Given the description of an element on the screen output the (x, y) to click on. 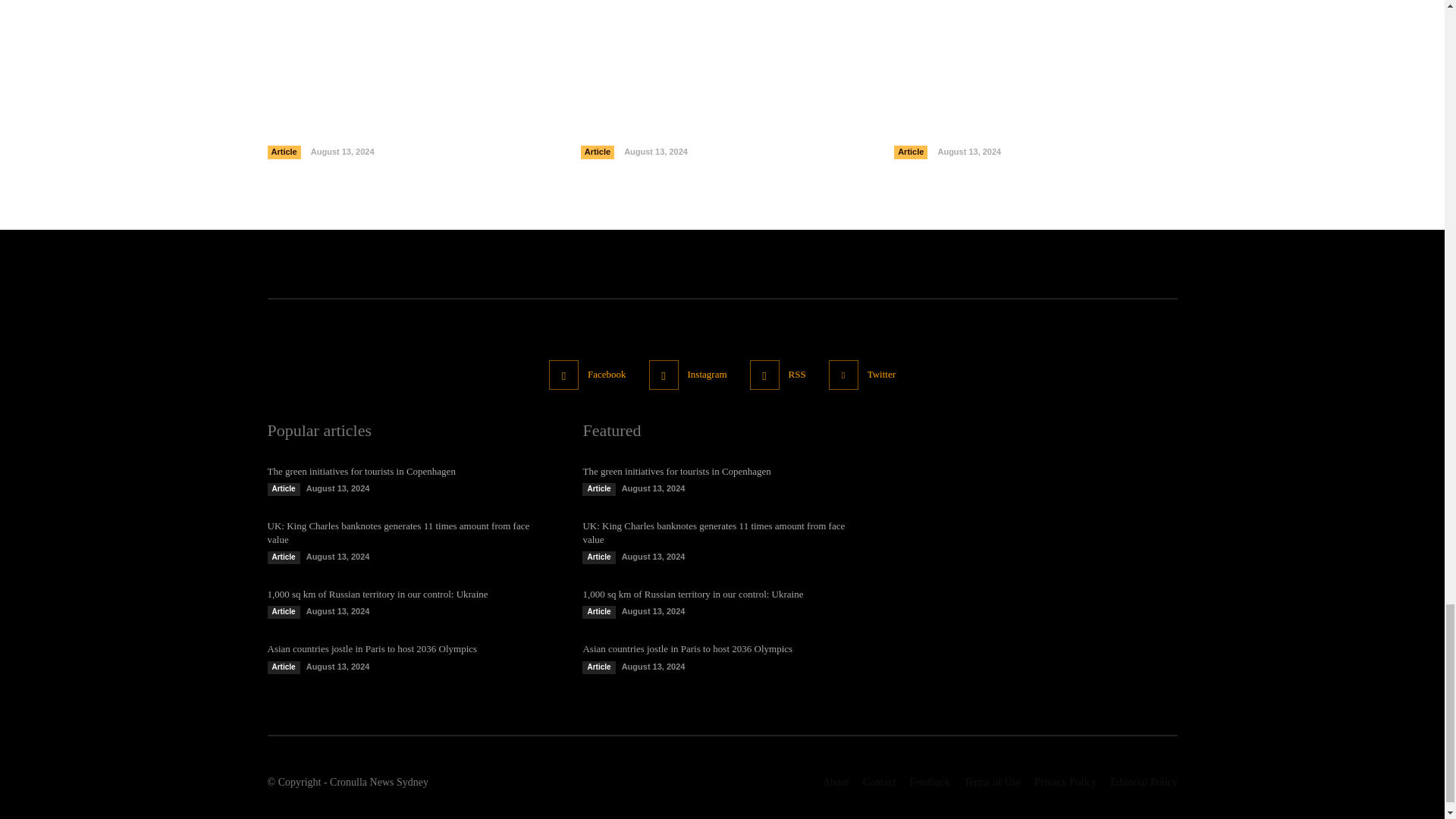
1,000 sq km of Russian territory in our control: Ukraine (1011, 126)
The green initiatives for tourists in Copenhagen (371, 126)
1,000 sq km of Russian territory in our control: Ukraine (1034, 21)
The green initiatives for tourists in Copenhagen (408, 21)
The green initiatives for tourists in Copenhagen (360, 471)
